Given the description of an element on the screen output the (x, y) to click on. 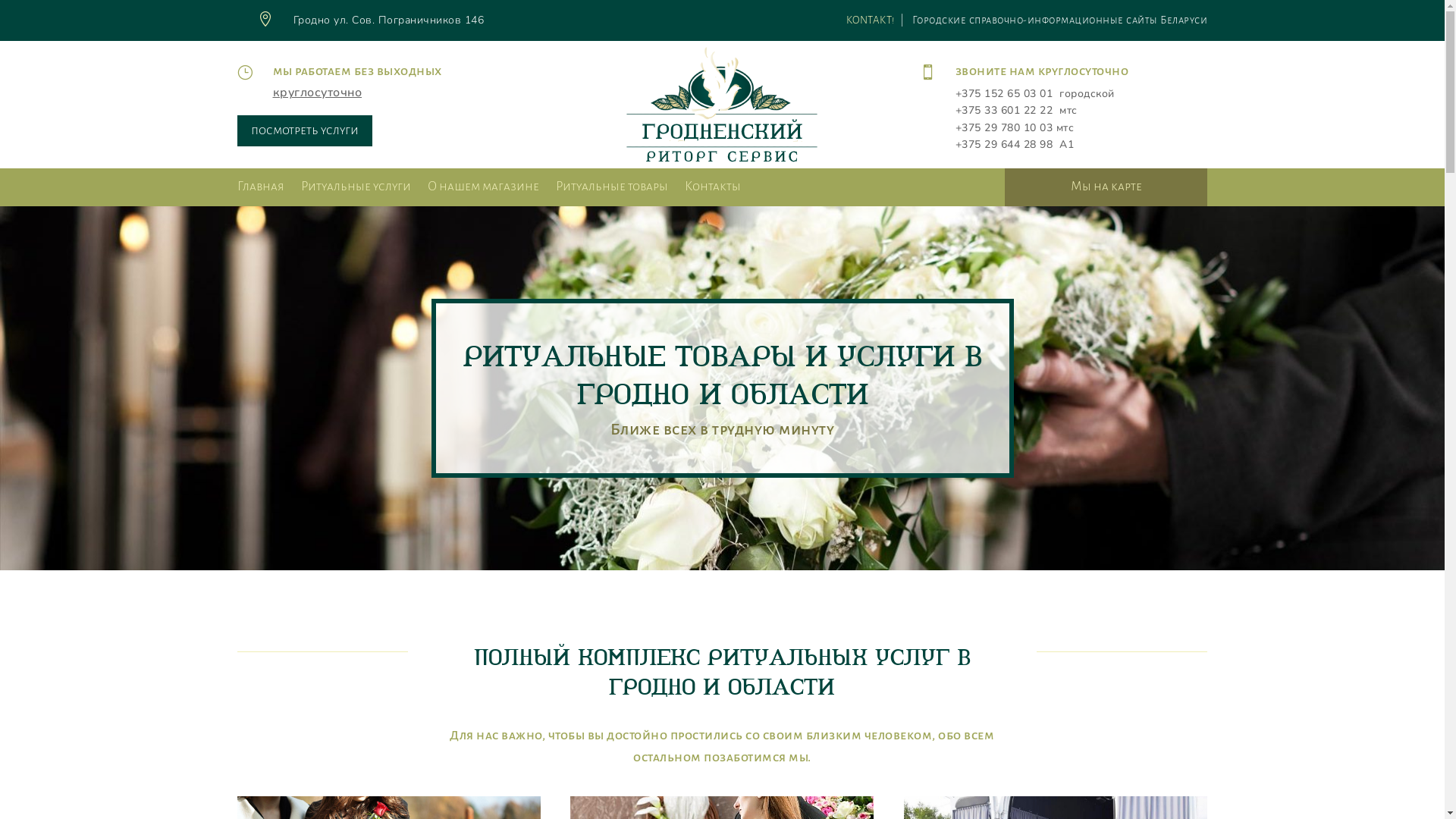
+375 33 601 22 22 Element type: text (1004, 110)
KONTAKT! Element type: text (870, 19)
+375 29 780 10 03 Element type: text (1004, 127)
logo_ritorg Element type: hover (721, 104)
+375 152 65 03 01 Element type: text (1004, 93)
+375 29 644 28 98 Element type: text (1004, 144)
